Given the description of an element on the screen output the (x, y) to click on. 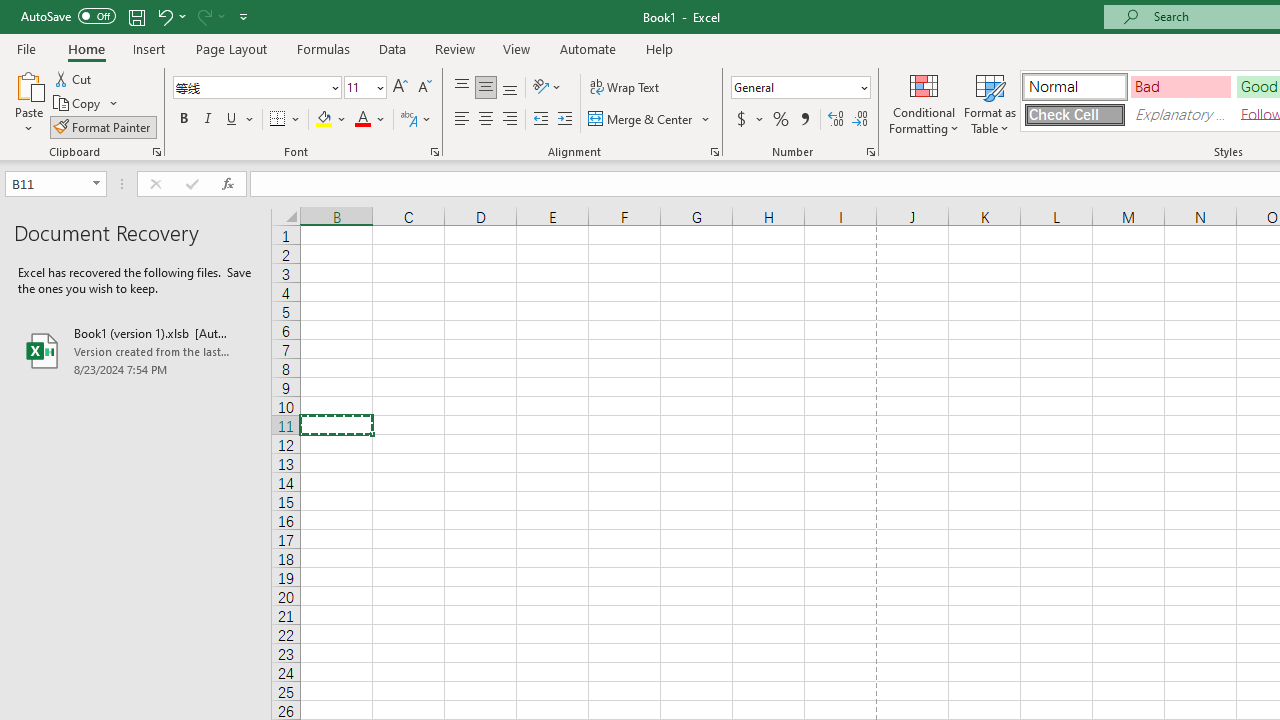
Underline (239, 119)
Show Phonetic Field (416, 119)
Comma Style (804, 119)
Fill Color (331, 119)
Bottom Align (509, 87)
Increase Decimal (836, 119)
Borders (285, 119)
Office Clipboard... (156, 151)
Center (485, 119)
Decrease Font Size (424, 87)
Top Align (461, 87)
Orientation (547, 87)
